Given the description of an element on the screen output the (x, y) to click on. 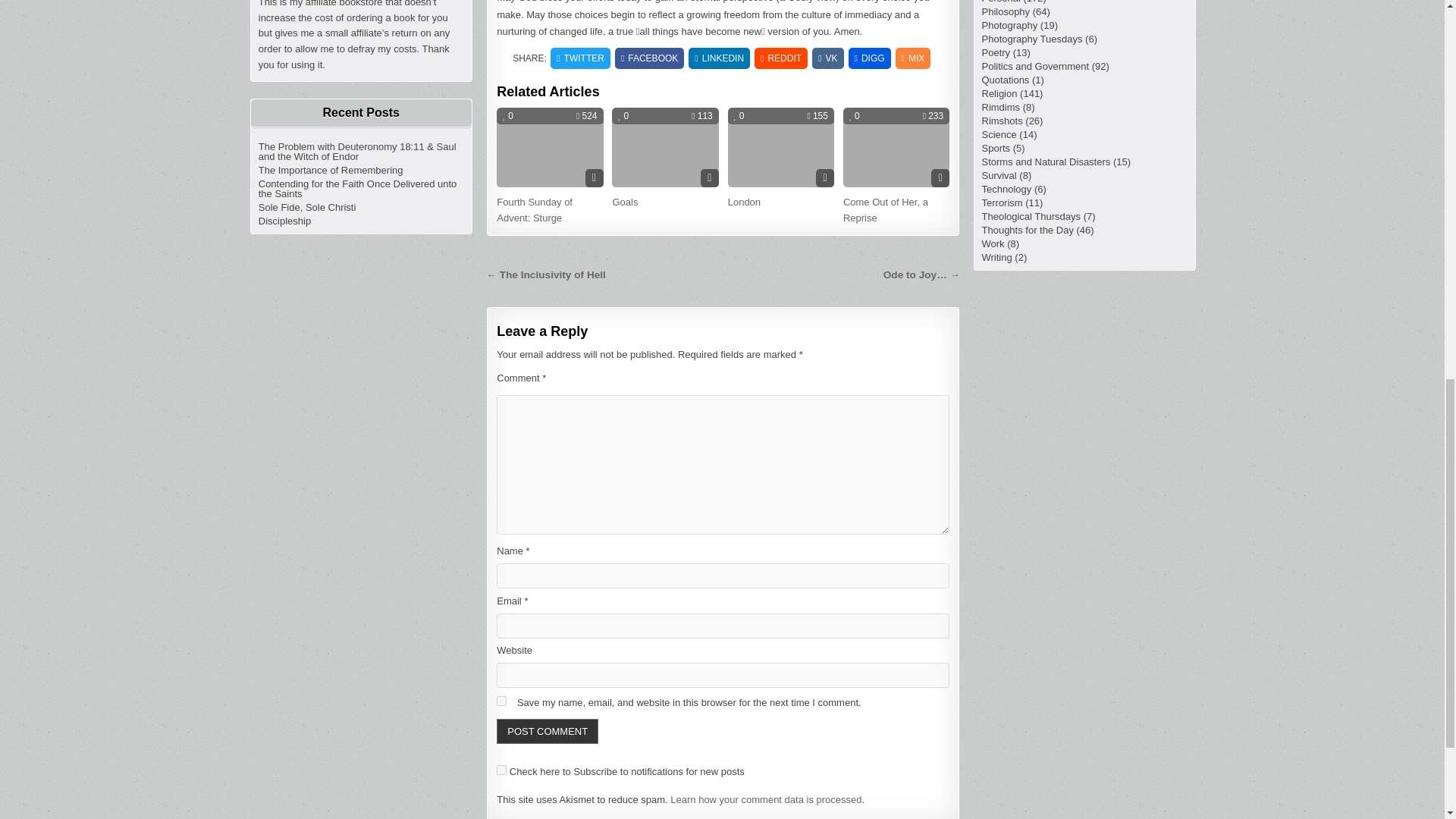
Fourth Sunday of Advent: Sturge (534, 209)
REDDIT (781, 57)
TWITTER (580, 57)
LINKEDIN (718, 57)
yes (501, 700)
VK (827, 57)
Share this on VK (827, 57)
Goals (624, 202)
Share this on Facebook (649, 57)
Like this (507, 115)
Share this on Reddit (781, 57)
0 (738, 115)
Share this on Mix (913, 57)
FACEBOOK (649, 57)
Tweet This! (580, 57)
